Given the description of an element on the screen output the (x, y) to click on. 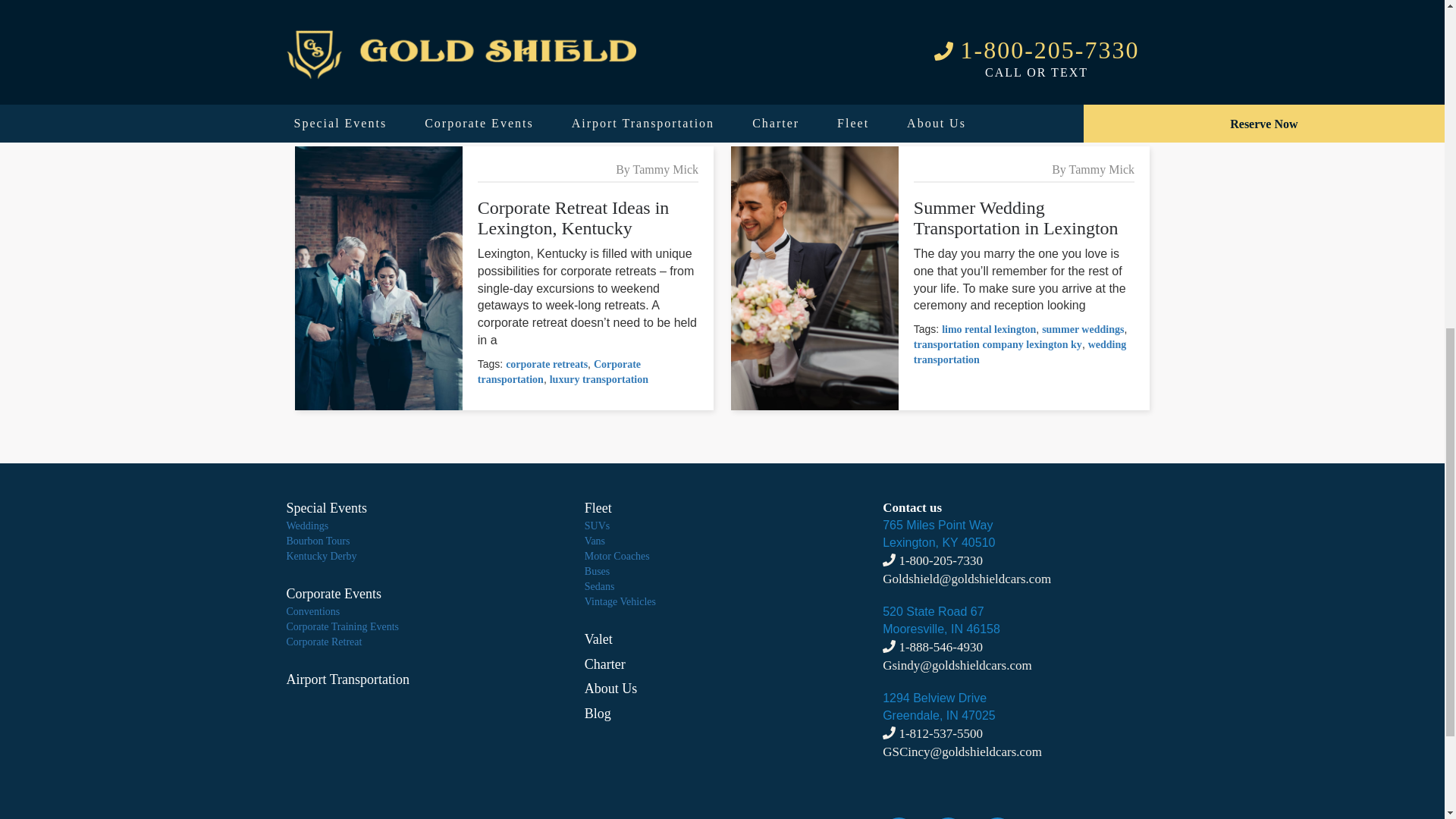
Corporate Retreat Ideas in Lexington, Kentucky (573, 217)
